Given the description of an element on the screen output the (x, y) to click on. 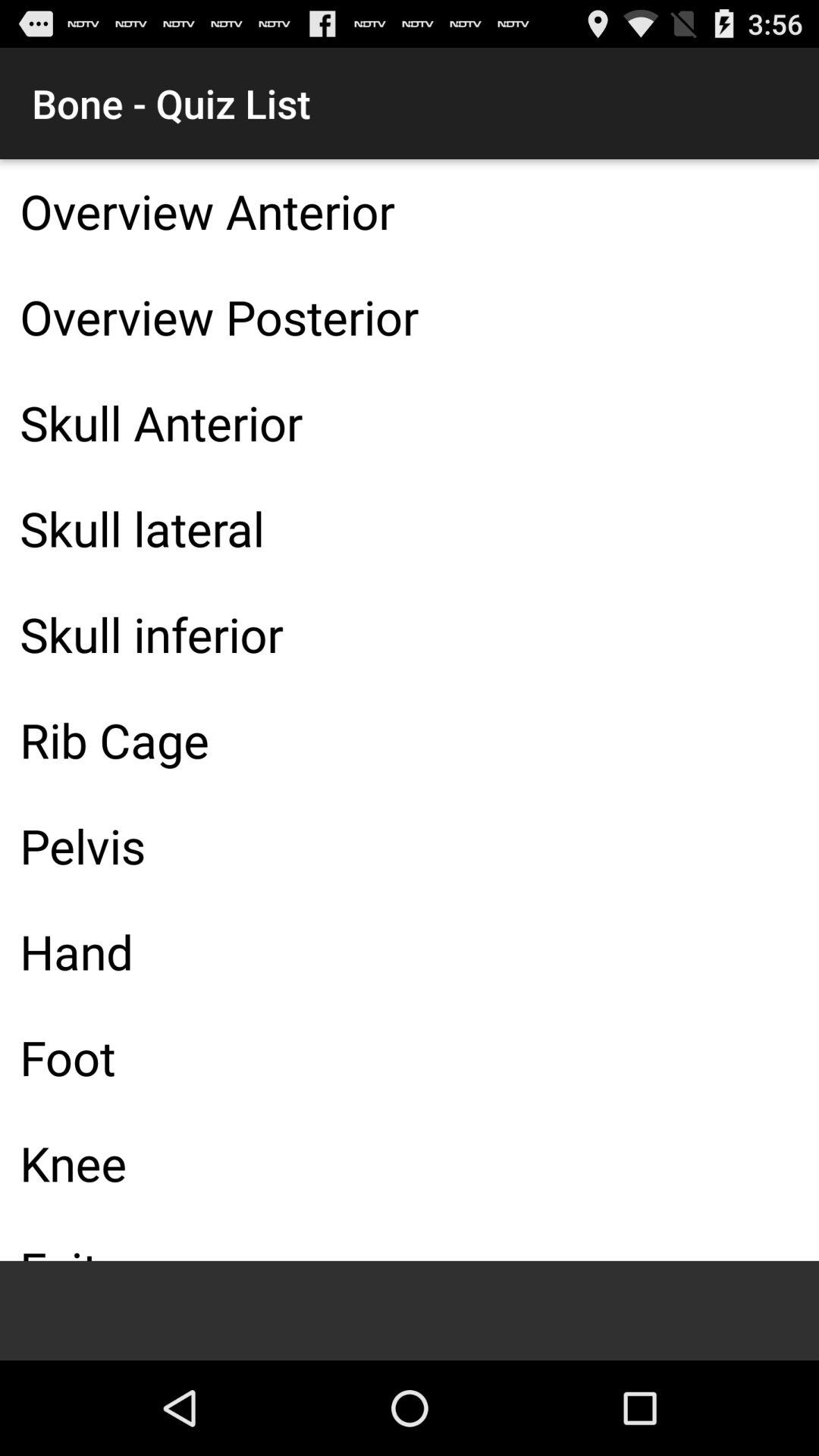
tap the foot icon (409, 1057)
